Given the description of an element on the screen output the (x, y) to click on. 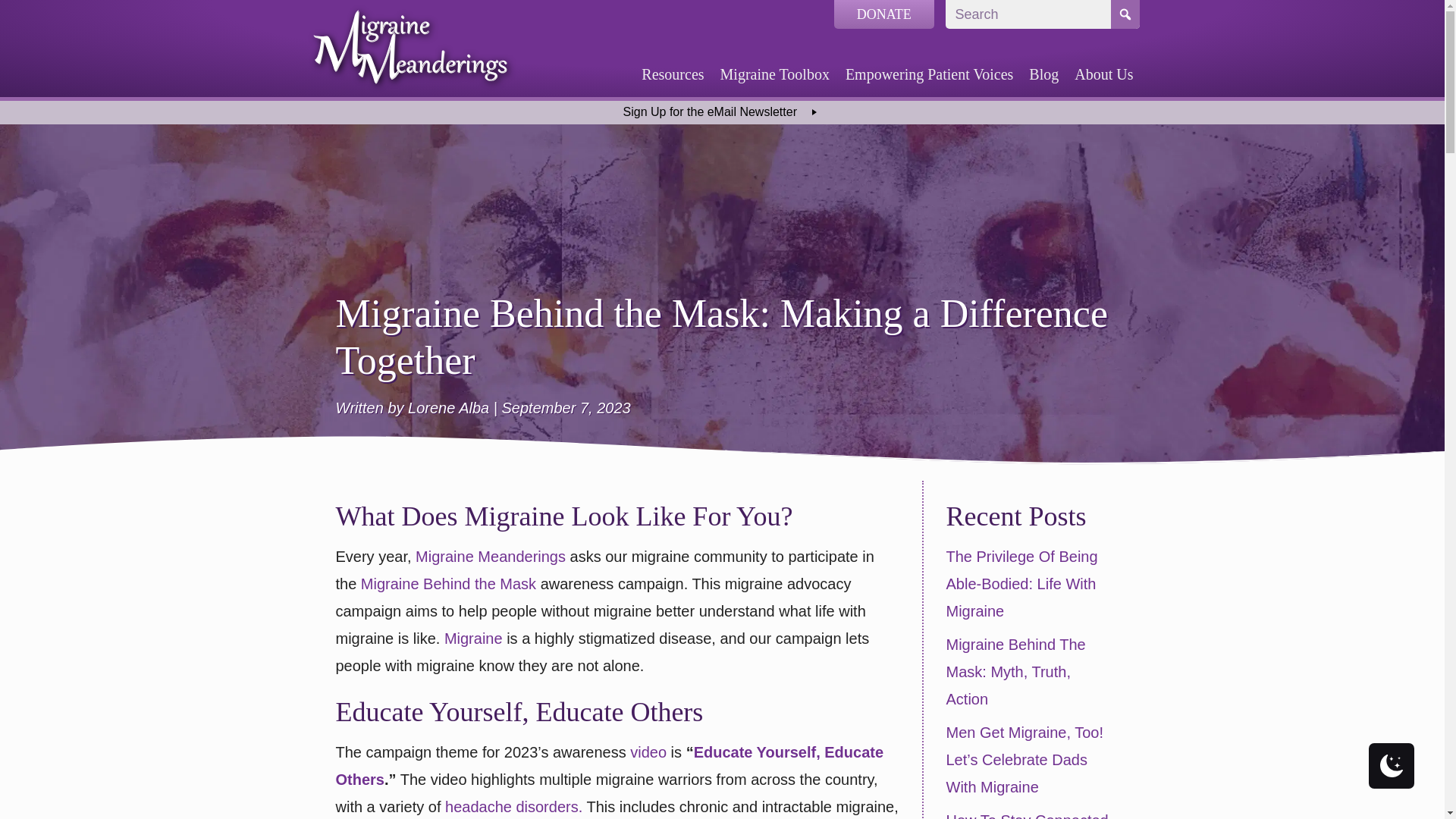
Search (1027, 14)
Migraine Toolbox (774, 74)
About Us (1103, 74)
Blog (1043, 74)
Empowering Patient Voices (929, 74)
DONATE (884, 14)
Resources (672, 74)
